Given the description of an element on the screen output the (x, y) to click on. 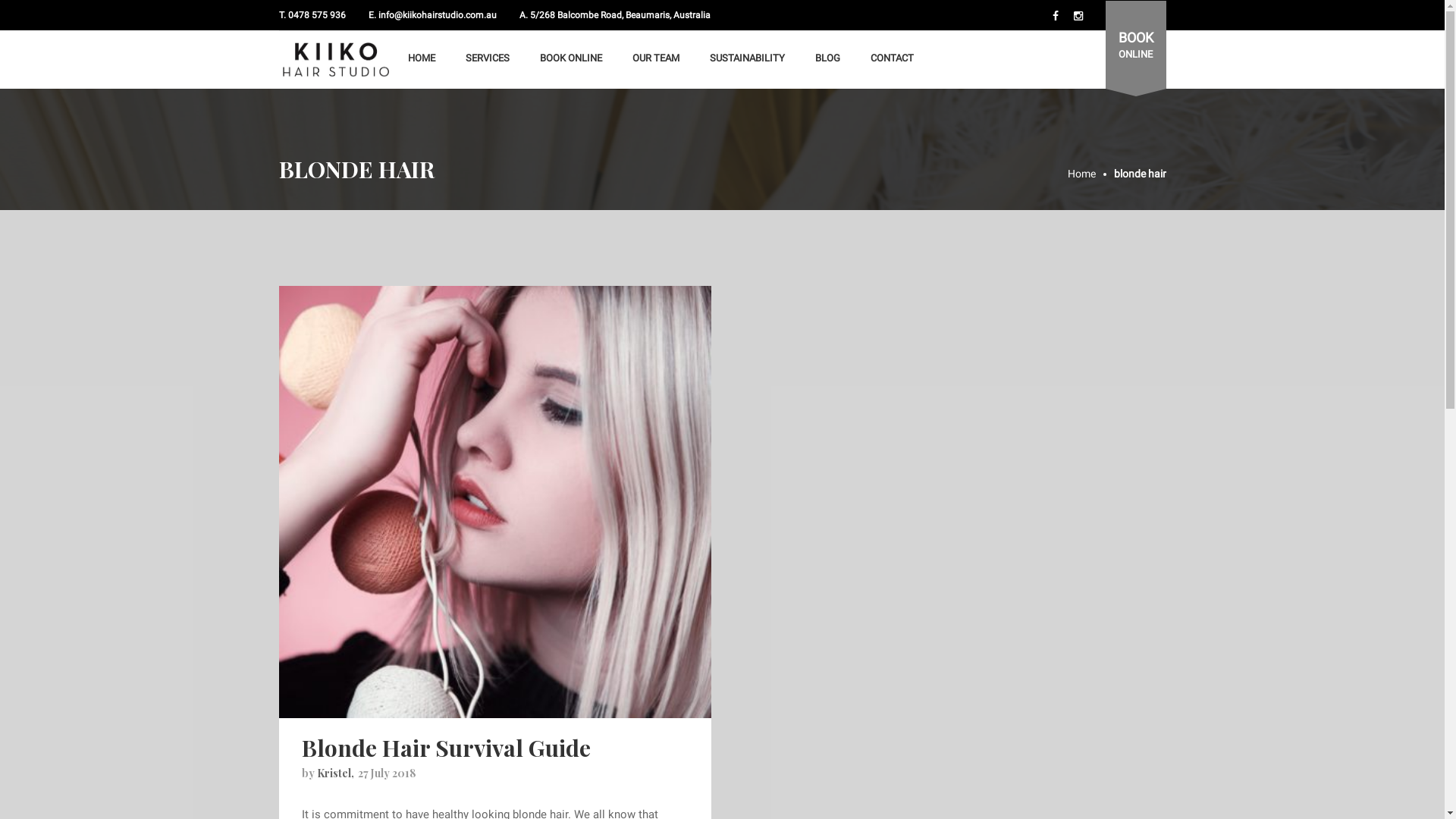
5/268 Balcombe Road, Beaumaris, Australia Element type: text (619, 14)
Home Element type: text (1090, 173)
Blonde Hair Survival Guide Element type: hover (495, 501)
Blonde Hair Survival Guide Element type: hover (495, 501)
info@kiikohairstudio.com.au Element type: text (436, 14)
BOOK ONLINE Element type: text (570, 58)
Kiiko Hair Studio - Kiiko Hair Studio Element type: hover (335, 59)
SUSTAINABILITY Element type: text (747, 58)
SERVICES Element type: text (487, 58)
CONTACT Element type: text (891, 58)
Kristel Element type: text (333, 772)
Blonde Hair Survival Guide Element type: text (445, 747)
OUR TEAM Element type: text (655, 58)
BLOG Element type: text (826, 58)
BOOK ONLINE Element type: text (1135, 46)
0478 575 936 Element type: text (316, 14)
HOME Element type: text (421, 58)
